Given the description of an element on the screen output the (x, y) to click on. 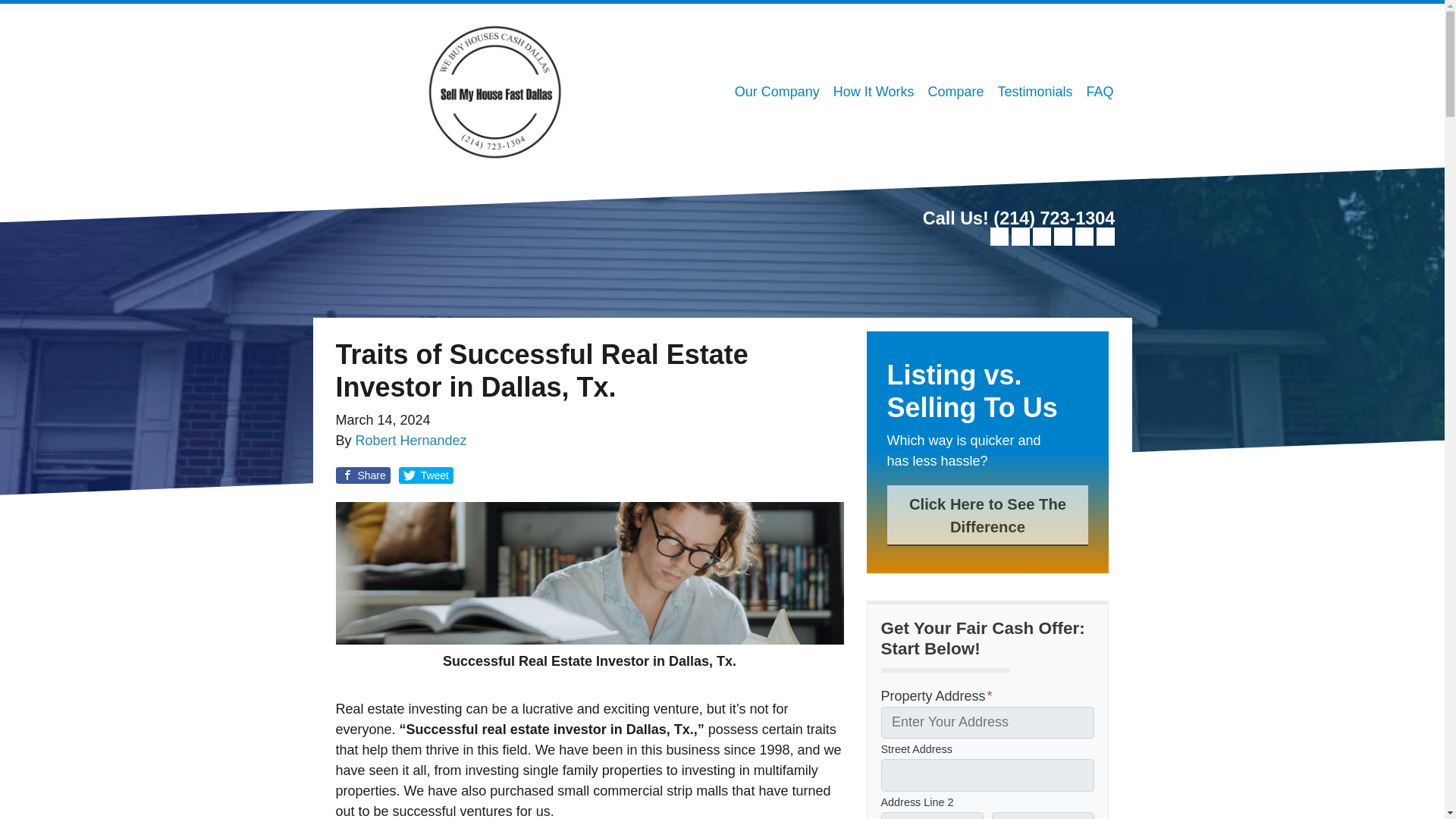
Twitter (999, 236)
Share (362, 475)
Compare (955, 91)
How It Works (874, 91)
Share on Twitter (425, 475)
Robert Hernandez (411, 440)
Testimonials (1034, 91)
Click Here to See The Difference (987, 515)
Share on Facebook (362, 475)
Compare (955, 91)
Instagram (1084, 236)
Tweet (425, 475)
Facebook (1020, 236)
YouTube (1041, 236)
Pinterest (1105, 236)
